Given the description of an element on the screen output the (x, y) to click on. 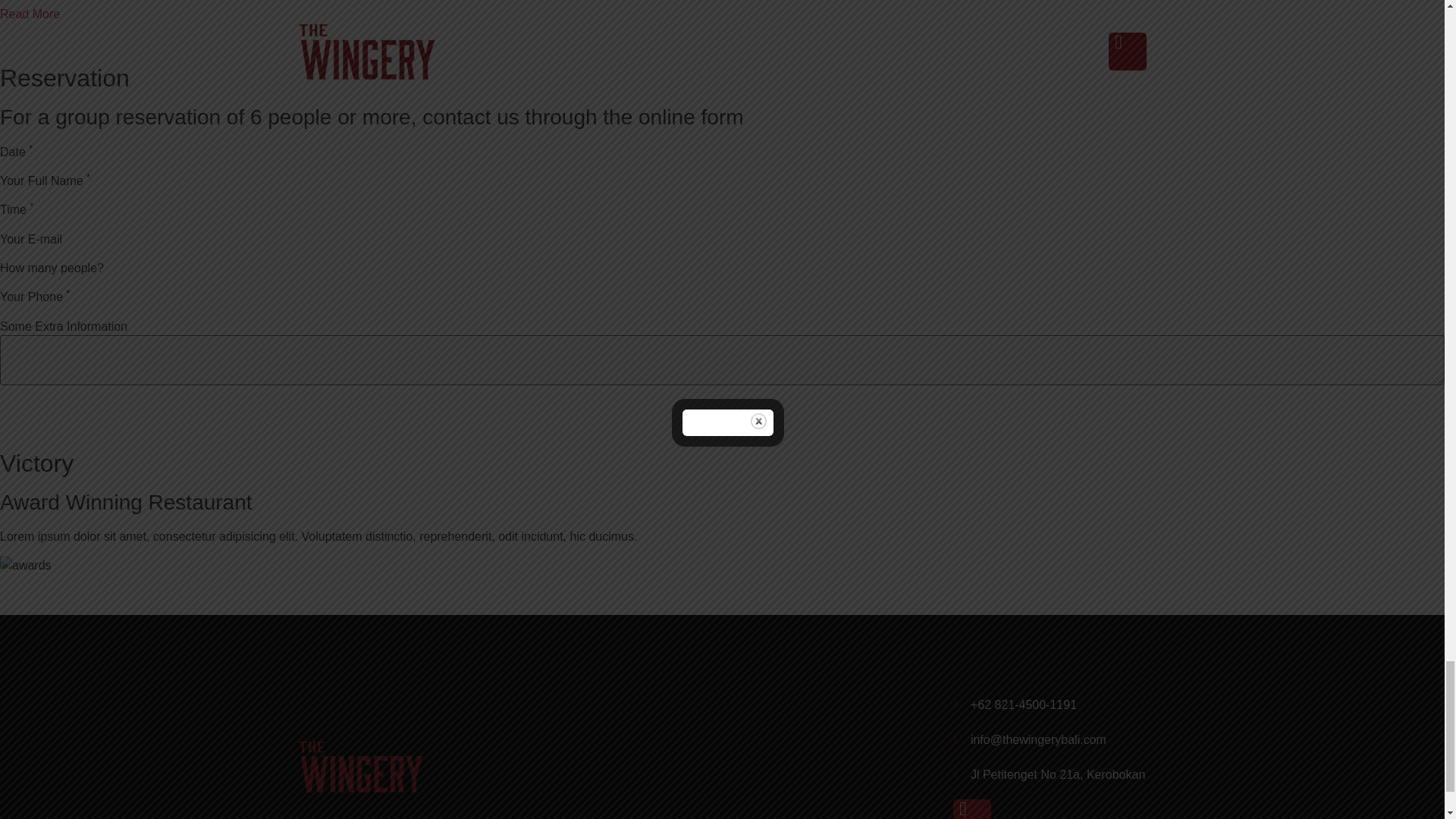
Jl Petitenget No 21a, Kerobokan (1049, 774)
Read More (29, 13)
